Given the description of an element on the screen output the (x, y) to click on. 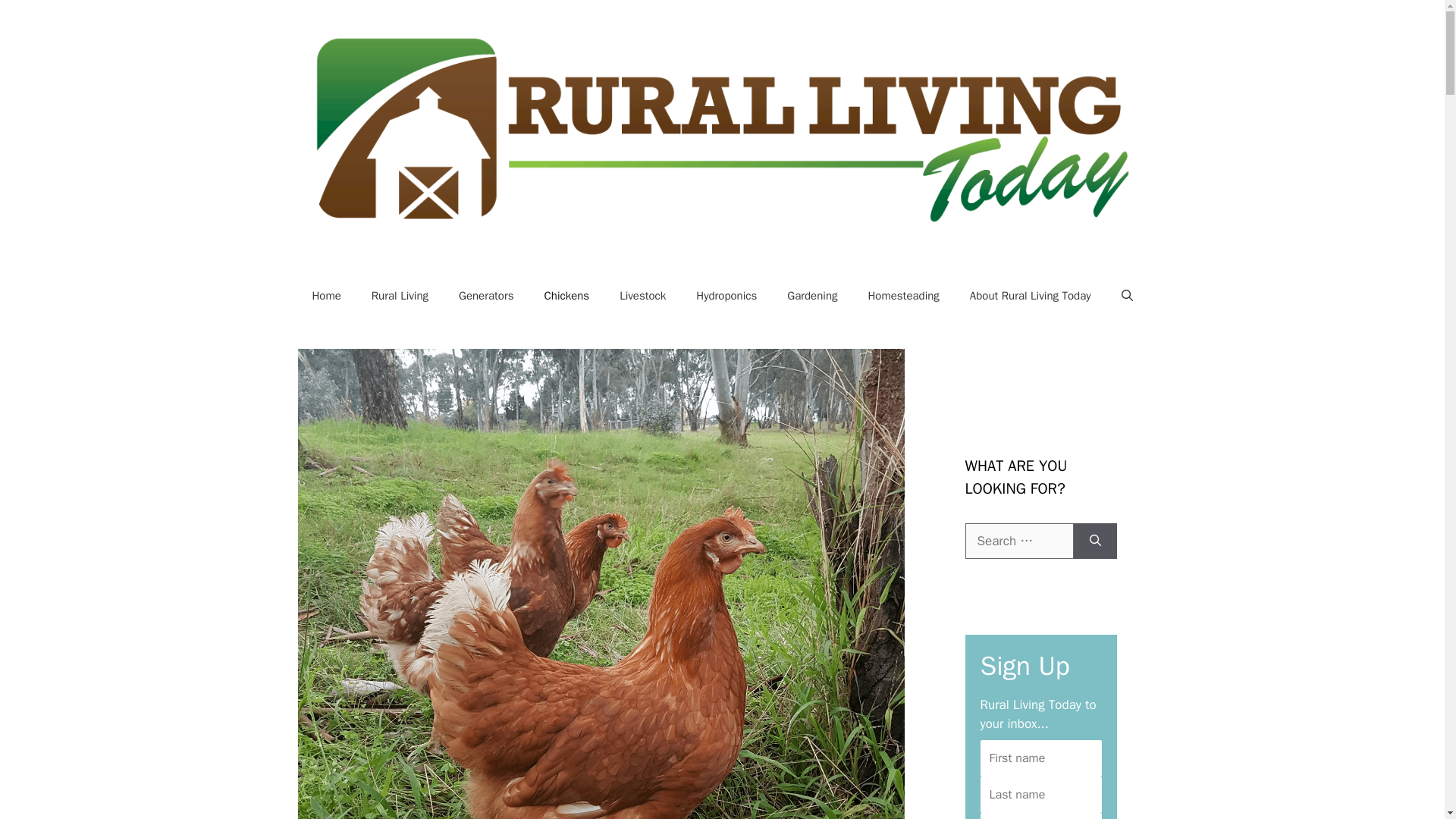
Homesteading (902, 295)
Gardening (811, 295)
Rural Living (400, 295)
Generators (486, 295)
Livestock (642, 295)
Hydroponics (726, 295)
About Rural Living Today (1030, 295)
Chickens (567, 295)
Home (326, 295)
